Given the description of an element on the screen output the (x, y) to click on. 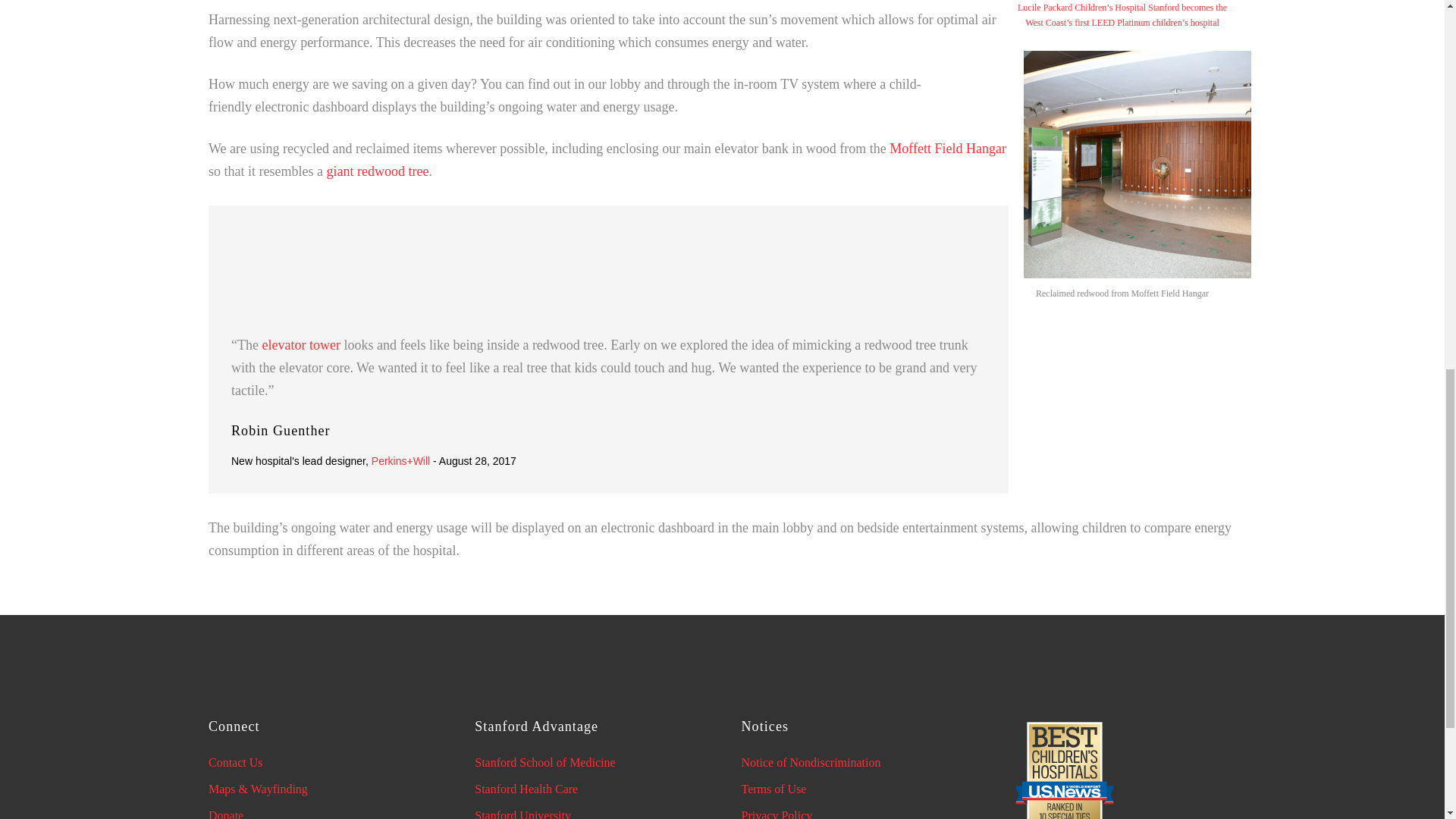
giant redwood tree (377, 171)
Privacy Policy (776, 814)
Stanford Health Care (526, 788)
Stanford University (522, 814)
elevator tower (300, 344)
Stanford School of Medicine (544, 762)
Terms of Use (773, 788)
Moffett Field Hangar (947, 148)
Contact Us (235, 762)
Notice of Nondiscrimination (810, 762)
Donate (225, 814)
